Given the description of an element on the screen output the (x, y) to click on. 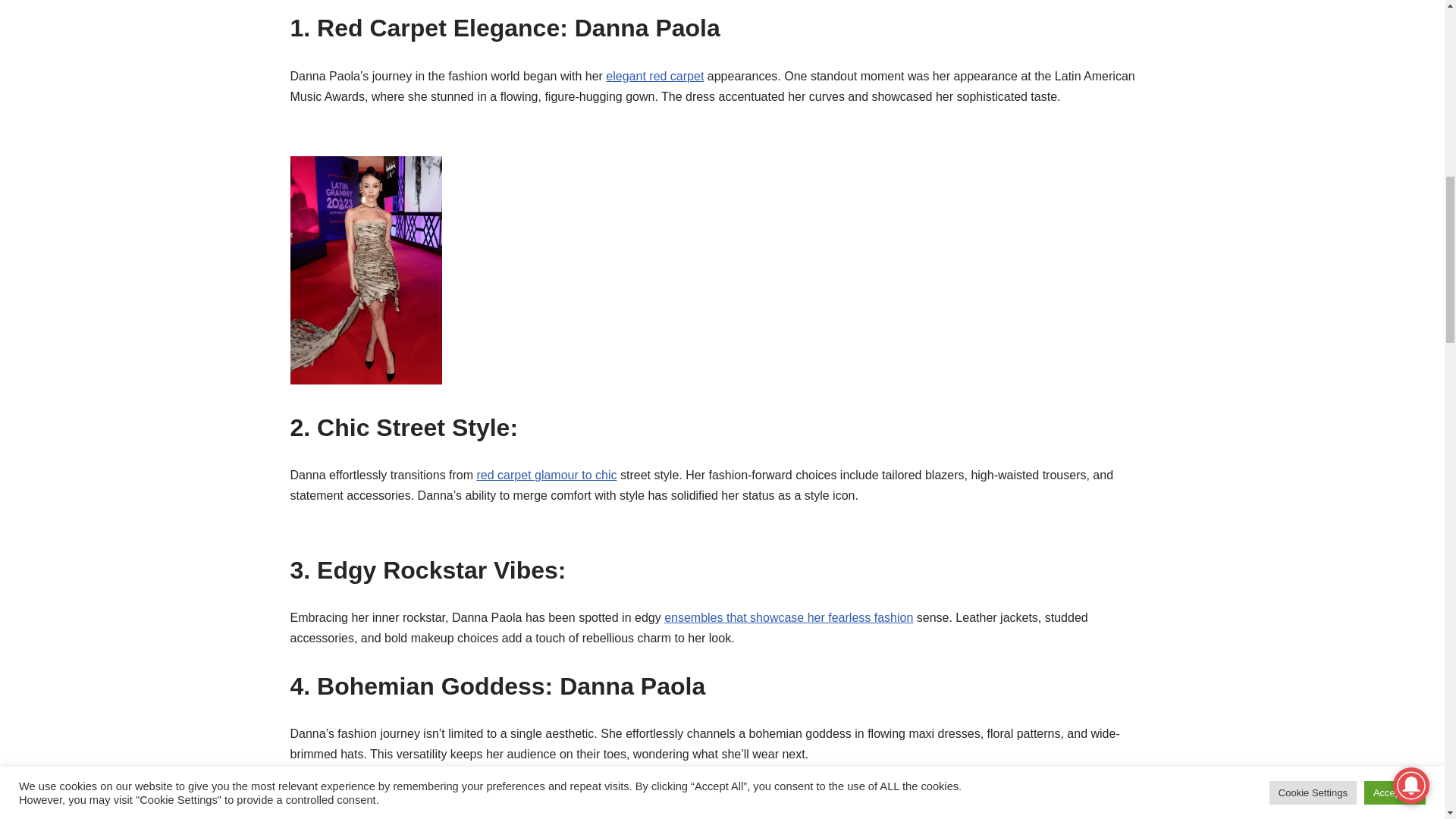
ensembles that showcase her fearless fashion (787, 617)
red carpet glamour to chic (547, 474)
elegant red carpet (654, 75)
